Given the description of an element on the screen output the (x, y) to click on. 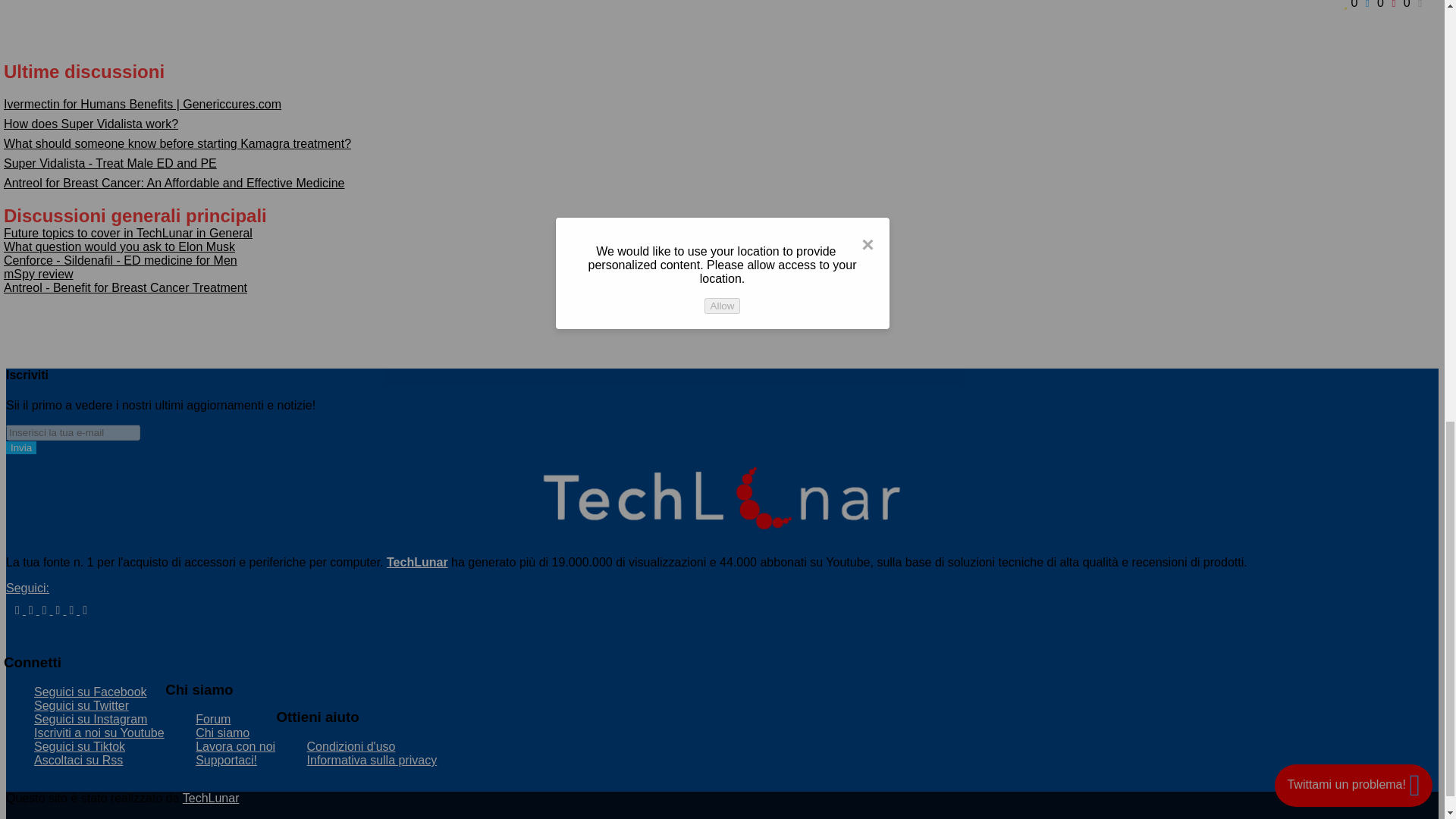
favourite (1352, 4)
